Given the description of an element on the screen output the (x, y) to click on. 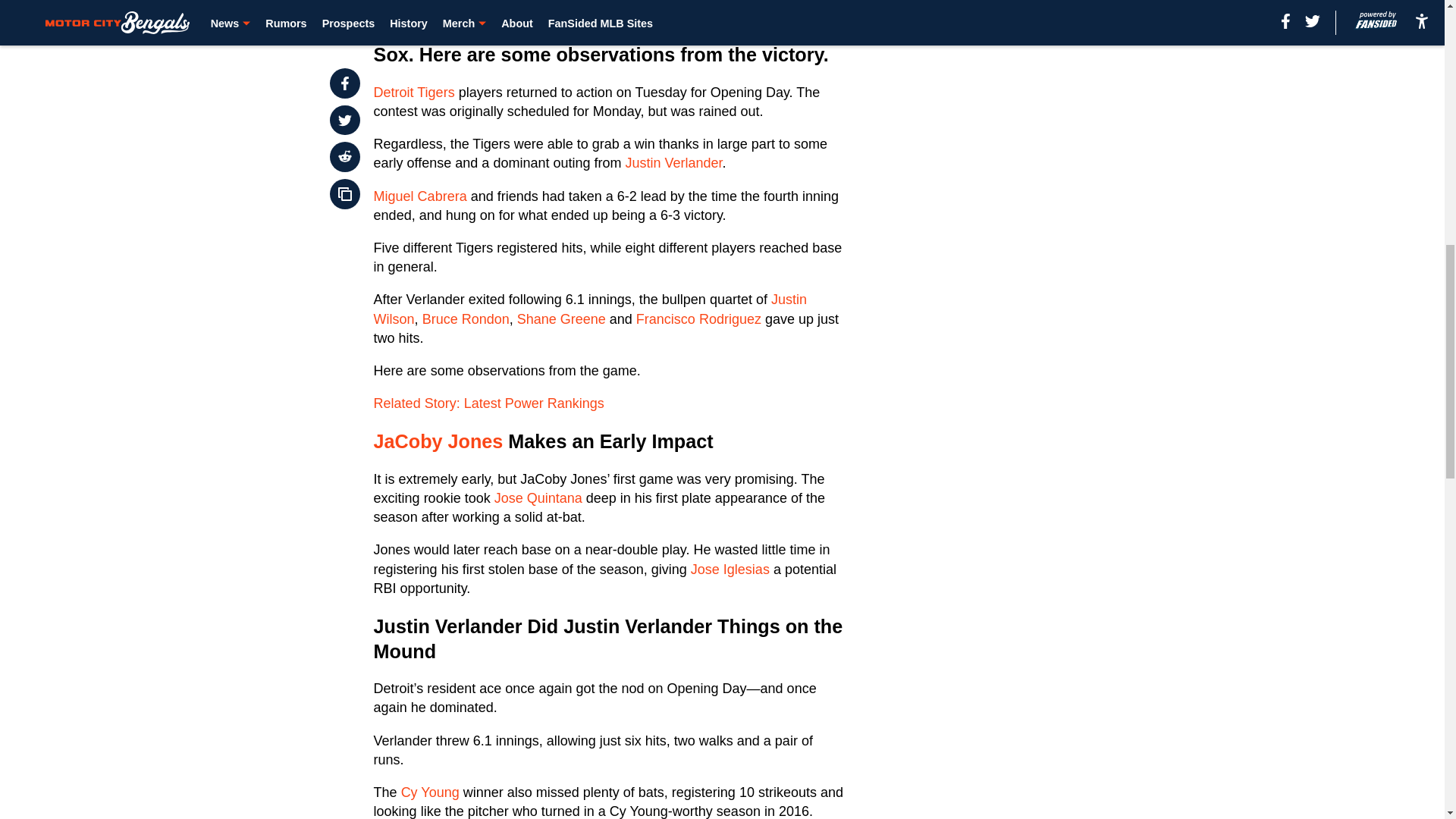
Francisco Rodriguez (698, 319)
Related Story: Latest Power Rankings (489, 403)
JaCoby Jones (438, 441)
Detroit Tigers (414, 92)
Justin Verlander (673, 162)
Bruce Rondon (465, 319)
Justin Wilson (590, 308)
Miguel Cabrera (420, 196)
Shane Greene (560, 319)
